Given the description of an element on the screen output the (x, y) to click on. 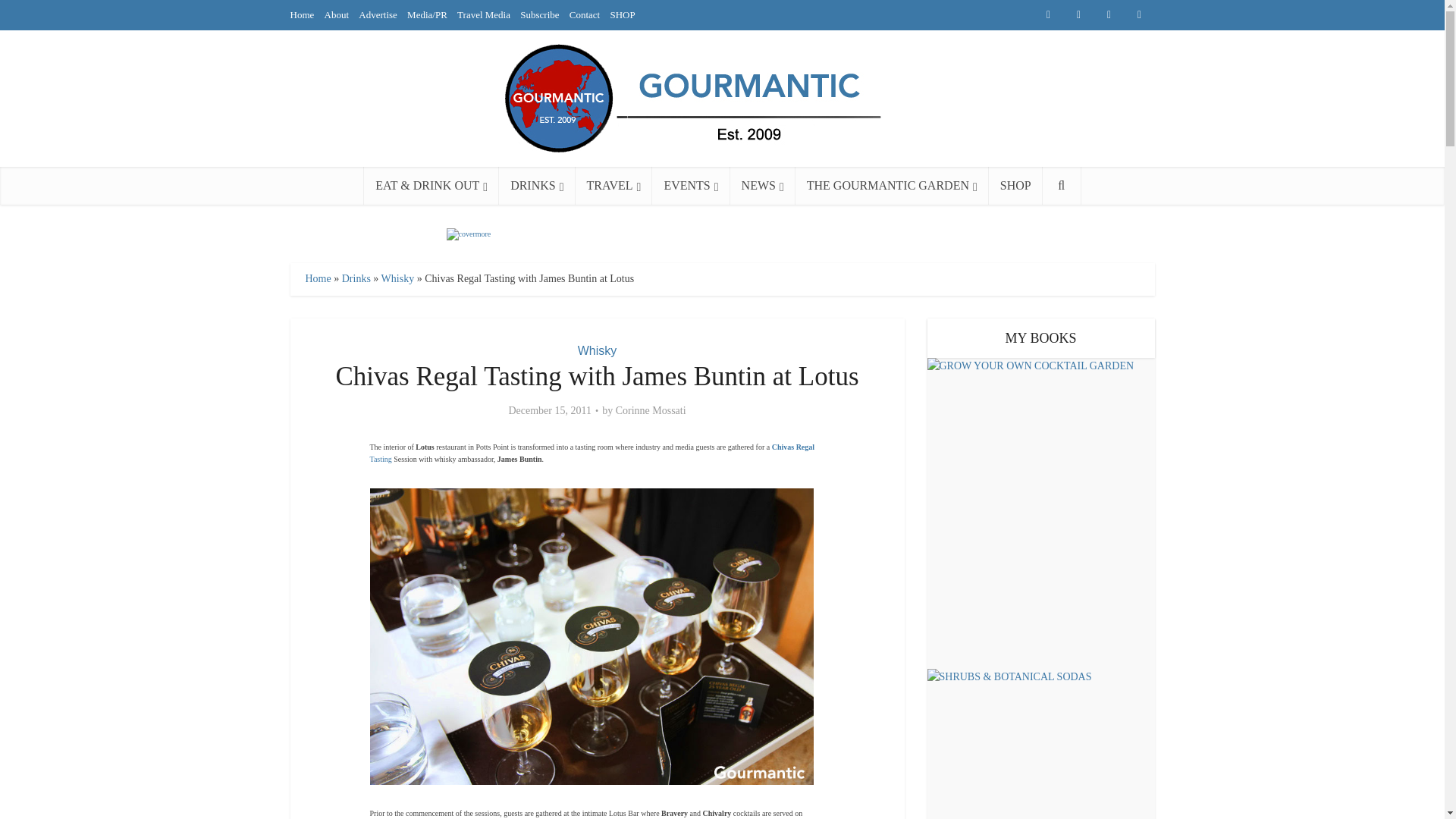
TRAVEL (613, 185)
DRINKS (537, 185)
Subscribe (539, 14)
Advertise (377, 14)
Travel Media (484, 14)
Alcoholic Beverages (537, 185)
SHOP (622, 14)
About (336, 14)
Home (301, 14)
Chivas Regal - James Buntin (591, 635)
Contact (584, 14)
